Given the description of an element on the screen output the (x, y) to click on. 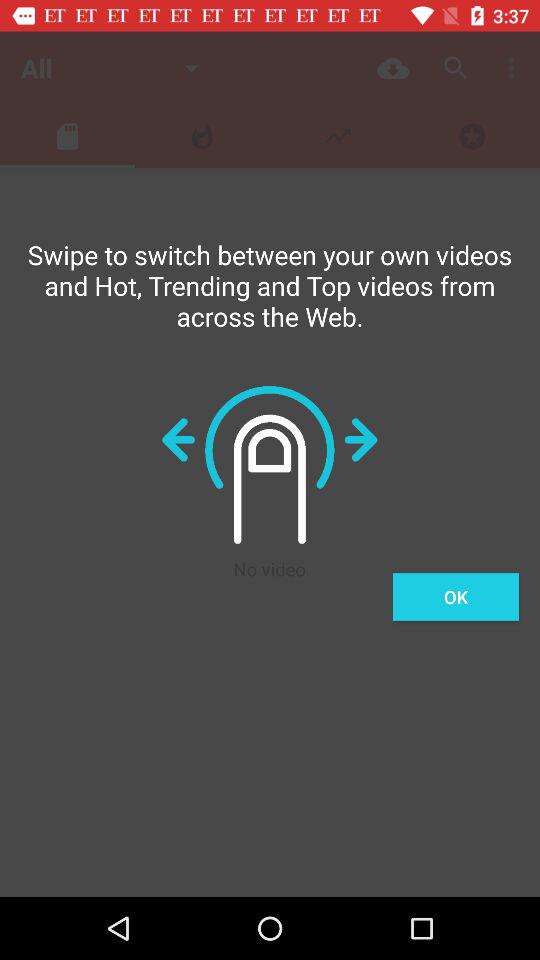
swipe until ok (456, 596)
